Given the description of an element on the screen output the (x, y) to click on. 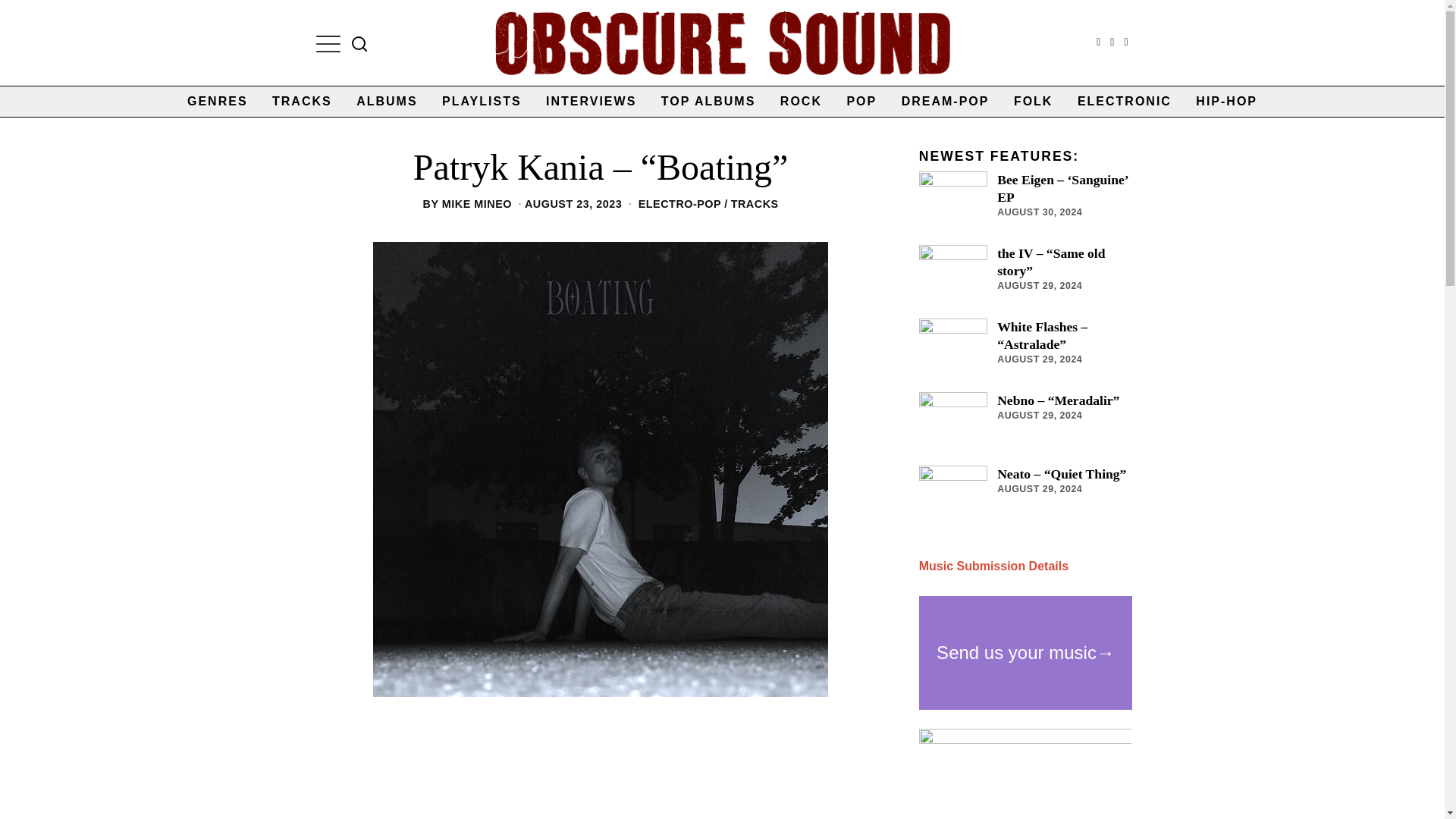
DREAM-POP (945, 101)
ROCK (801, 101)
GENRES (217, 101)
ELECTRONIC (1124, 101)
ELECTRO-POP (679, 203)
ALBUMS (387, 101)
TRACKS (302, 101)
HIP-HOP (1226, 101)
MIKE MINEO (477, 203)
POP (860, 101)
